Given the description of an element on the screen output the (x, y) to click on. 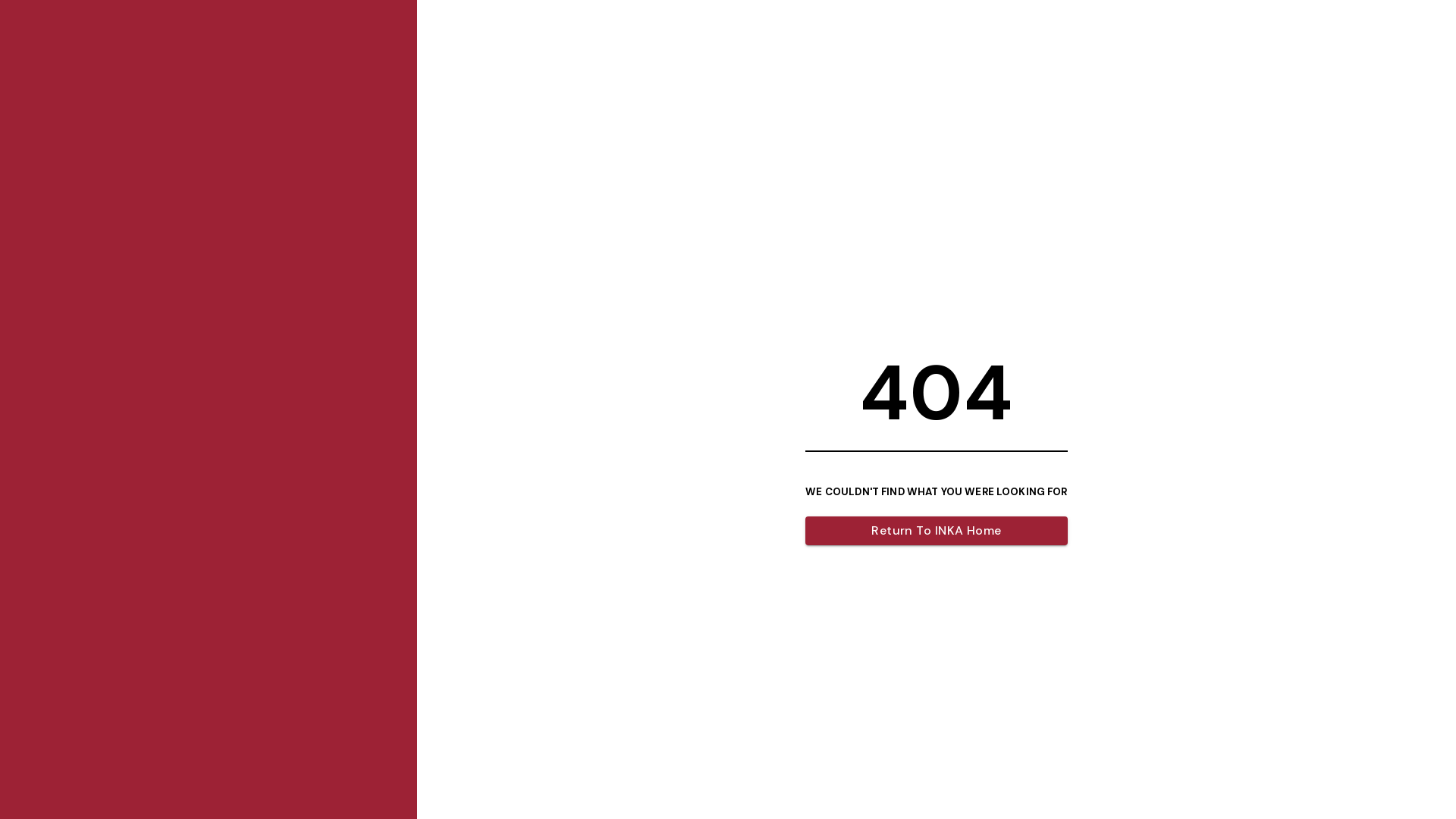
Return To INKA Home Element type: text (935, 530)
